Given the description of an element on the screen output the (x, y) to click on. 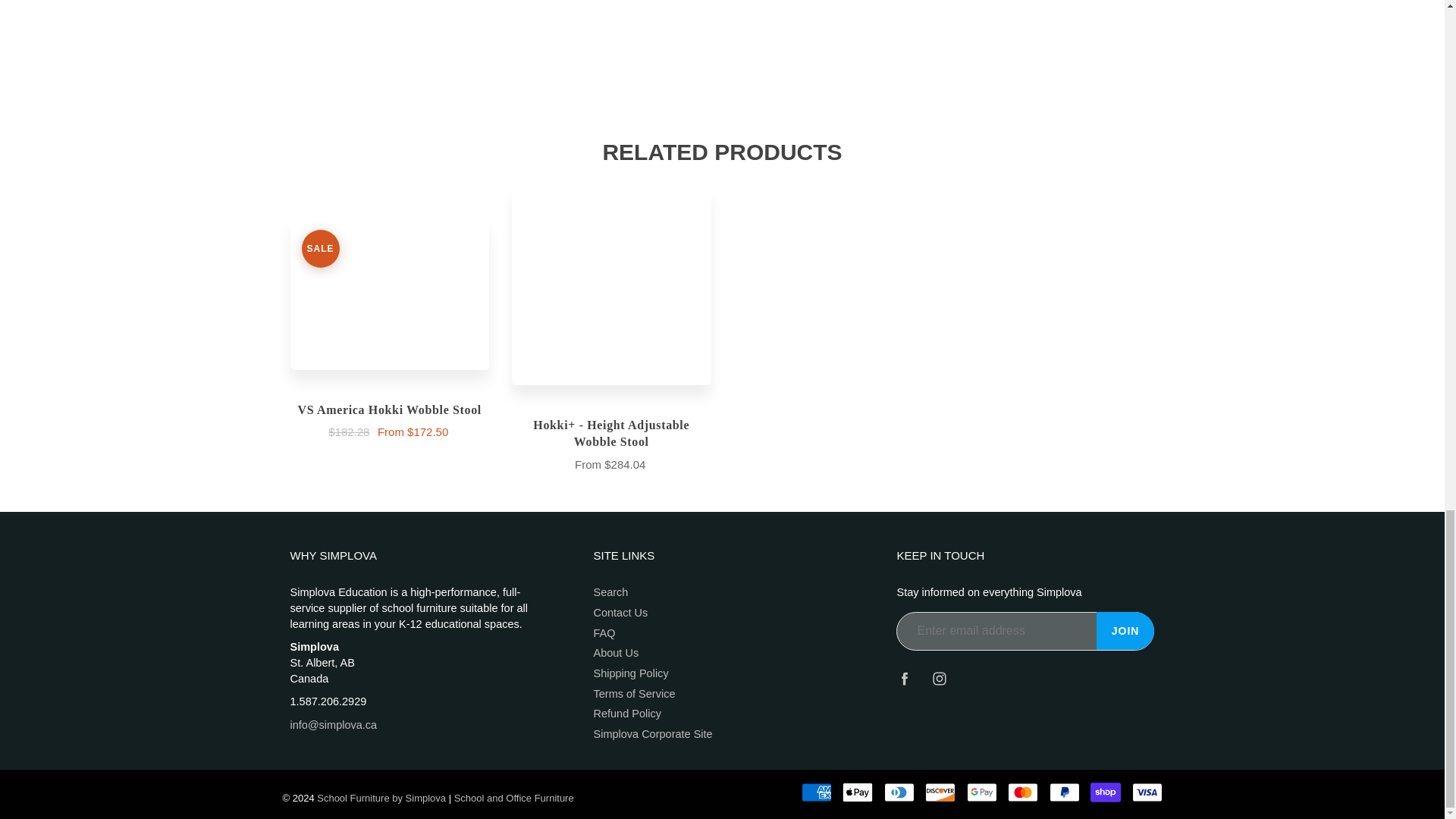
Google Pay (981, 792)
Mastercard (1022, 792)
PayPal (1064, 792)
Diners Club (898, 792)
Apple Pay (857, 792)
Visa (1146, 792)
American Express (816, 792)
Discover (939, 792)
Shop Pay (1105, 792)
